Given the description of an element on the screen output the (x, y) to click on. 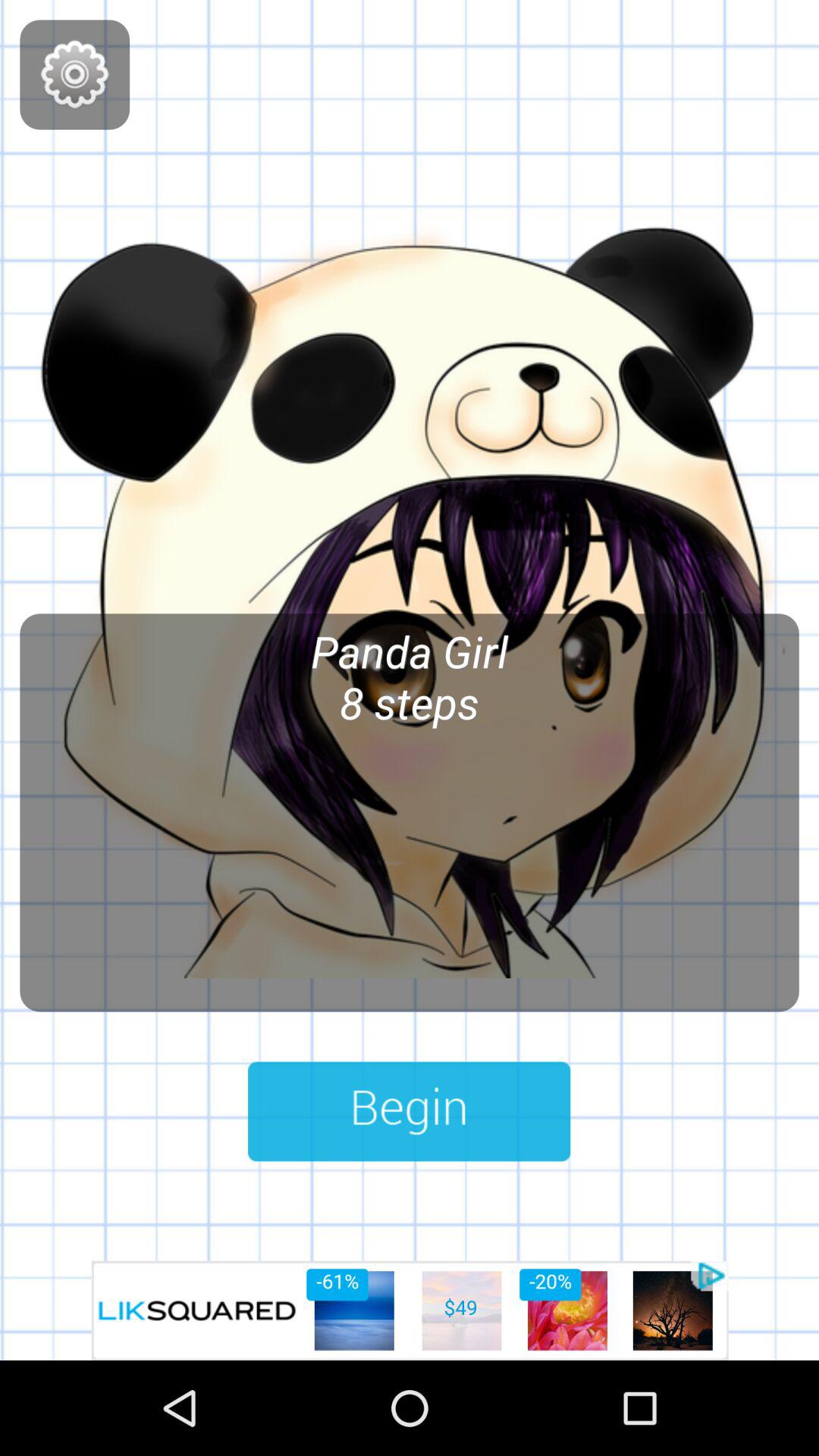
add option (409, 1310)
